Given the description of an element on the screen output the (x, y) to click on. 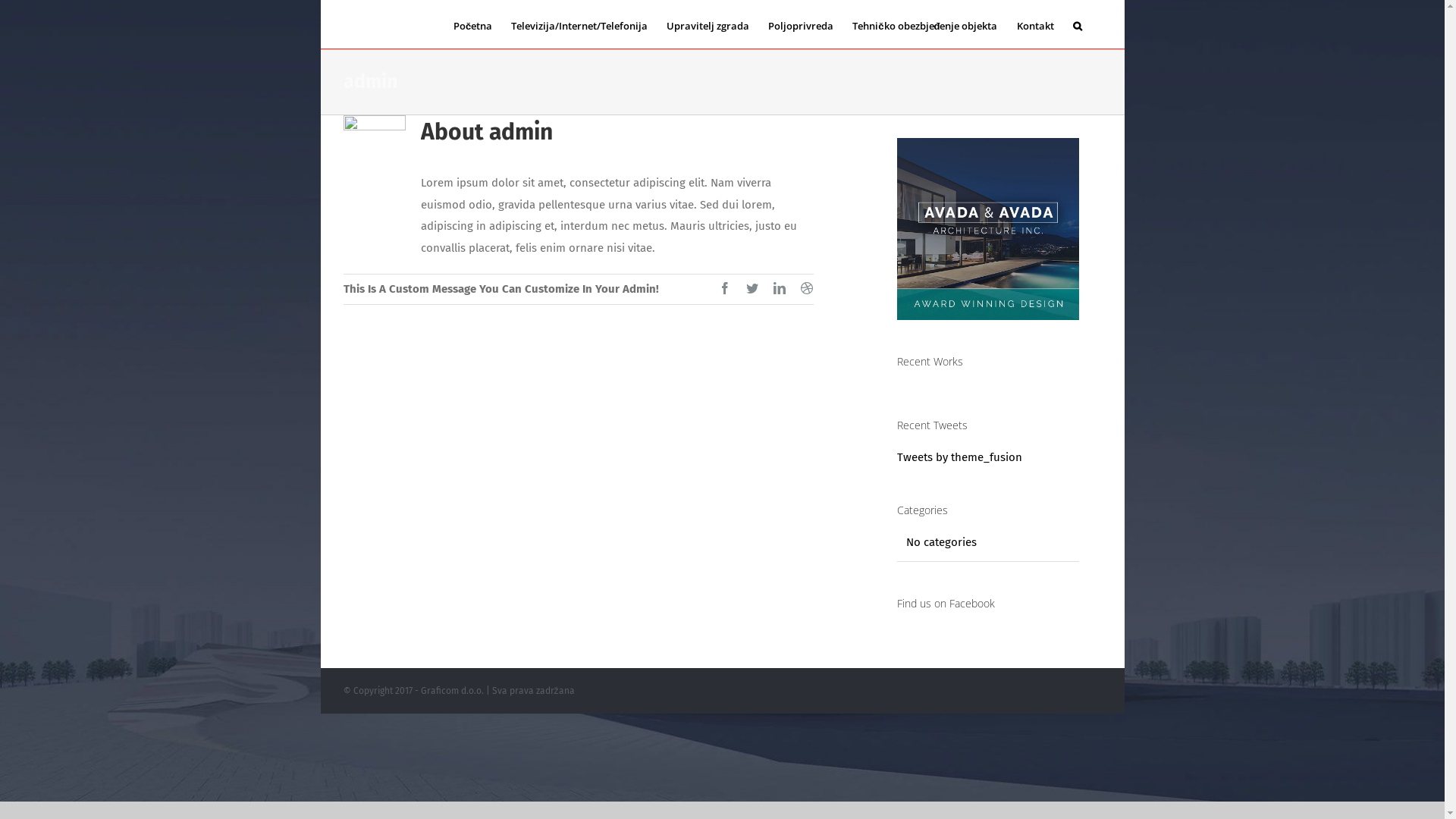
LinkedIn Element type: text (779, 288)
Poljoprivreda Element type: text (800, 24)
Tweets by theme_fusion Element type: text (958, 457)
Twitter Element type: text (752, 288)
Dribbble Element type: text (806, 288)
Kontakt Element type: text (1034, 24)
Televizija/Internet/Telefonija Element type: text (579, 24)
Search Element type: hover (1077, 24)
Upravitelj zgrada Element type: text (707, 24)
Facebook Element type: text (724, 288)
